Given the description of an element on the screen output the (x, y) to click on. 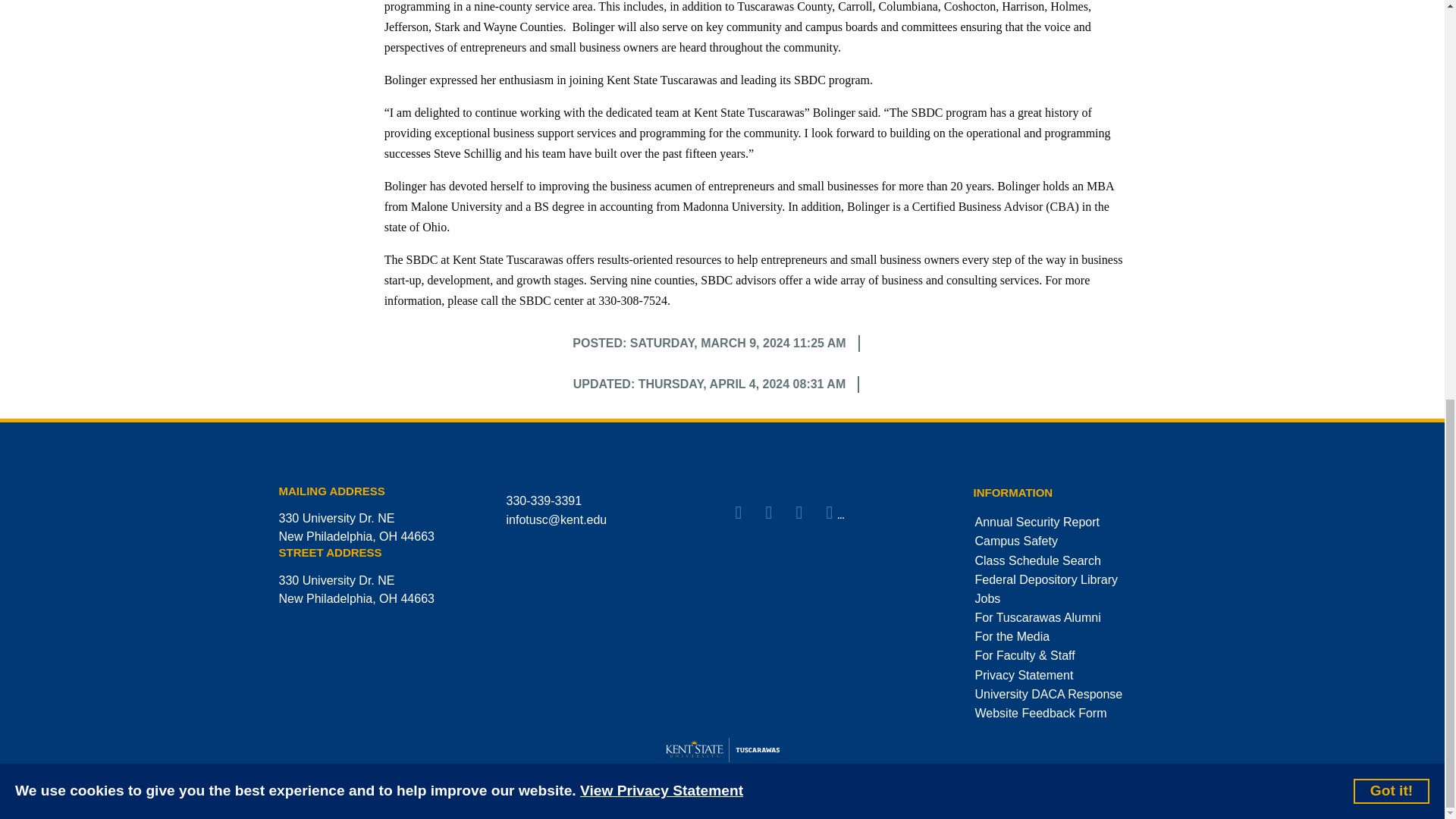
Kent State Kent Campus - Facebook (748, 512)
Got it! (1391, 13)
Kent State University logo (721, 749)
Kent State Kent Campus - Facebook (779, 512)
Kent State Kent Campus - Facebook (809, 512)
View Privacy Statement (660, 13)
